Given the description of an element on the screen output the (x, y) to click on. 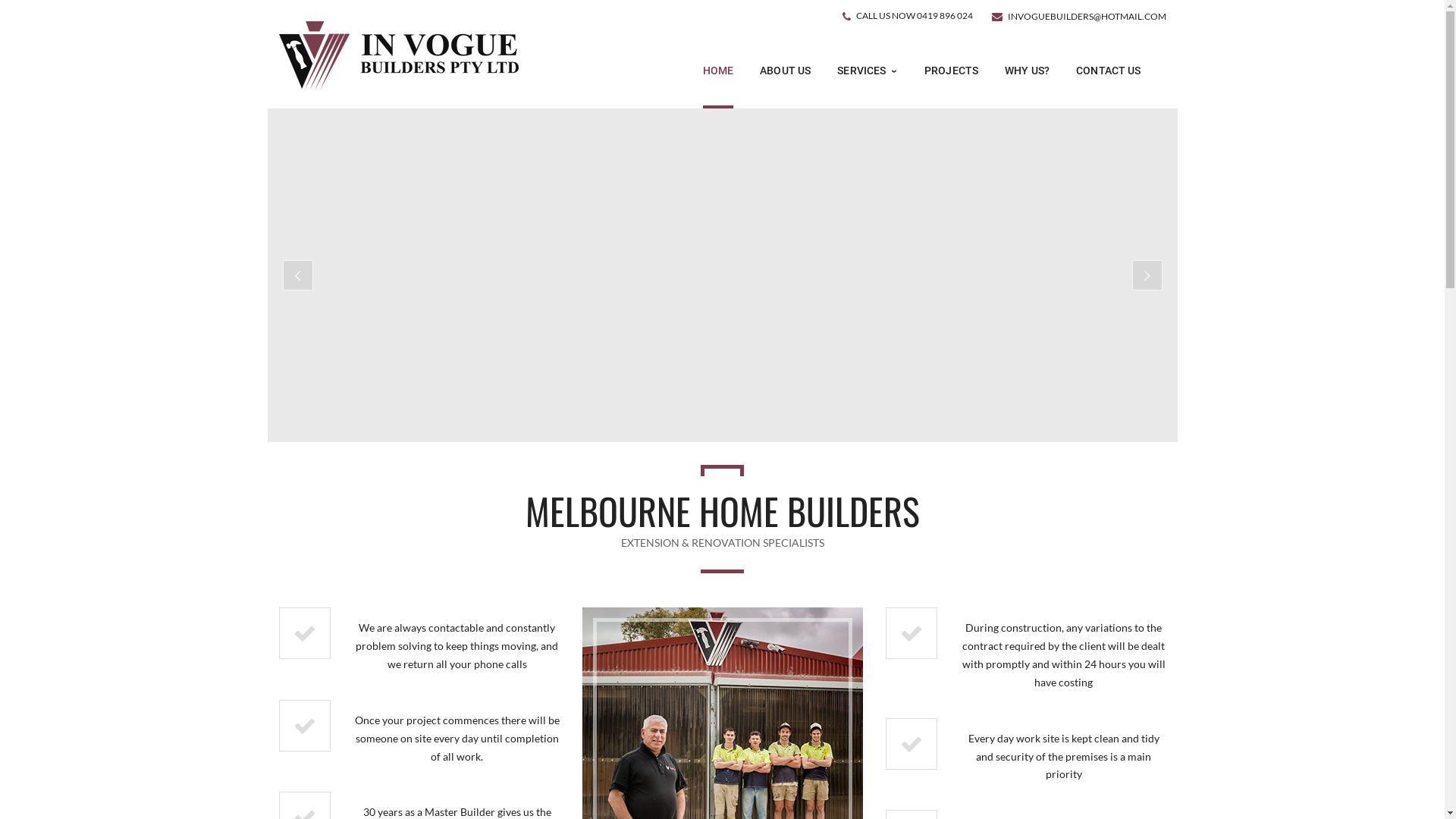
SERVICES Element type: text (867, 70)
CONTACT US Element type: text (1108, 70)
ABOUT US Element type: text (784, 70)
HOME Element type: text (718, 70)
PROJECTS Element type: text (951, 70)
In Vogue Builders - Melbourne Home Builders Element type: hover (398, 68)
INVOGUEBUILDERS@HOTMAIL.COM Element type: text (1086, 15)
WHY US? Element type: text (1026, 70)
